Given the description of an element on the screen output the (x, y) to click on. 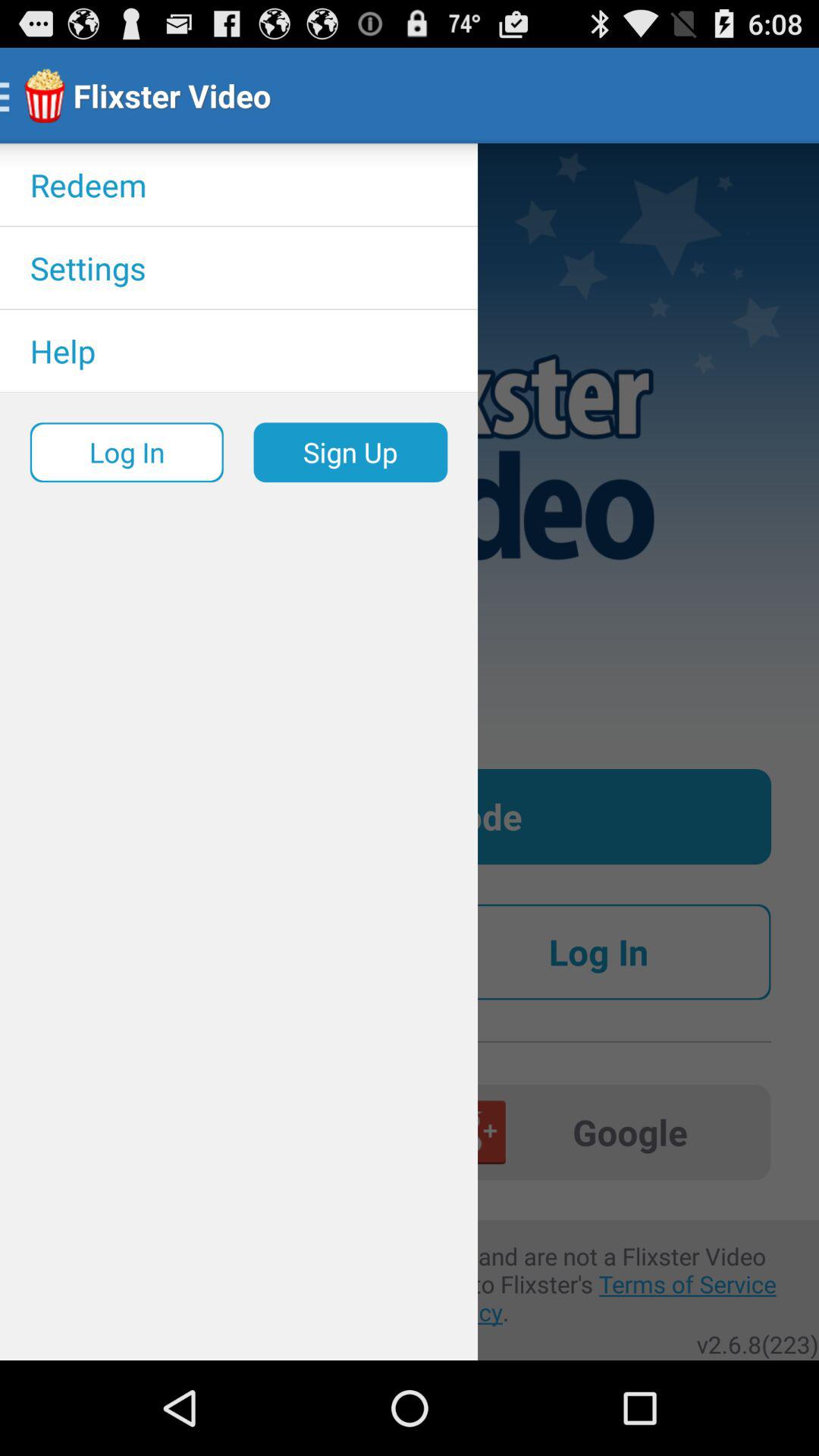
click on sign up (350, 451)
select the log in button (597, 952)
